Given the description of an element on the screen output the (x, y) to click on. 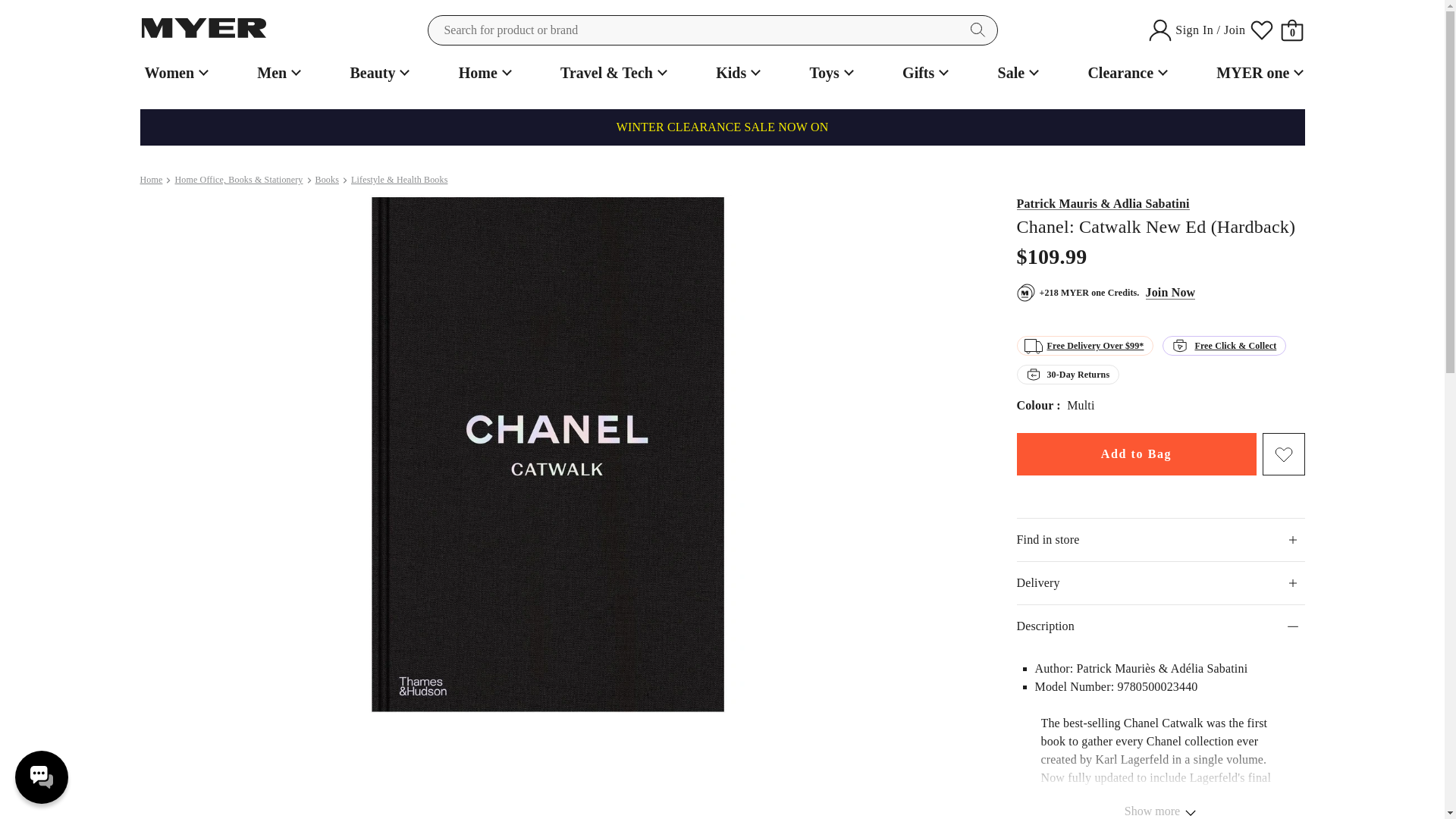
0 (1291, 30)
Click here to toggle the virtual assistant (41, 777)
Women (174, 72)
